Given the description of an element on the screen output the (x, y) to click on. 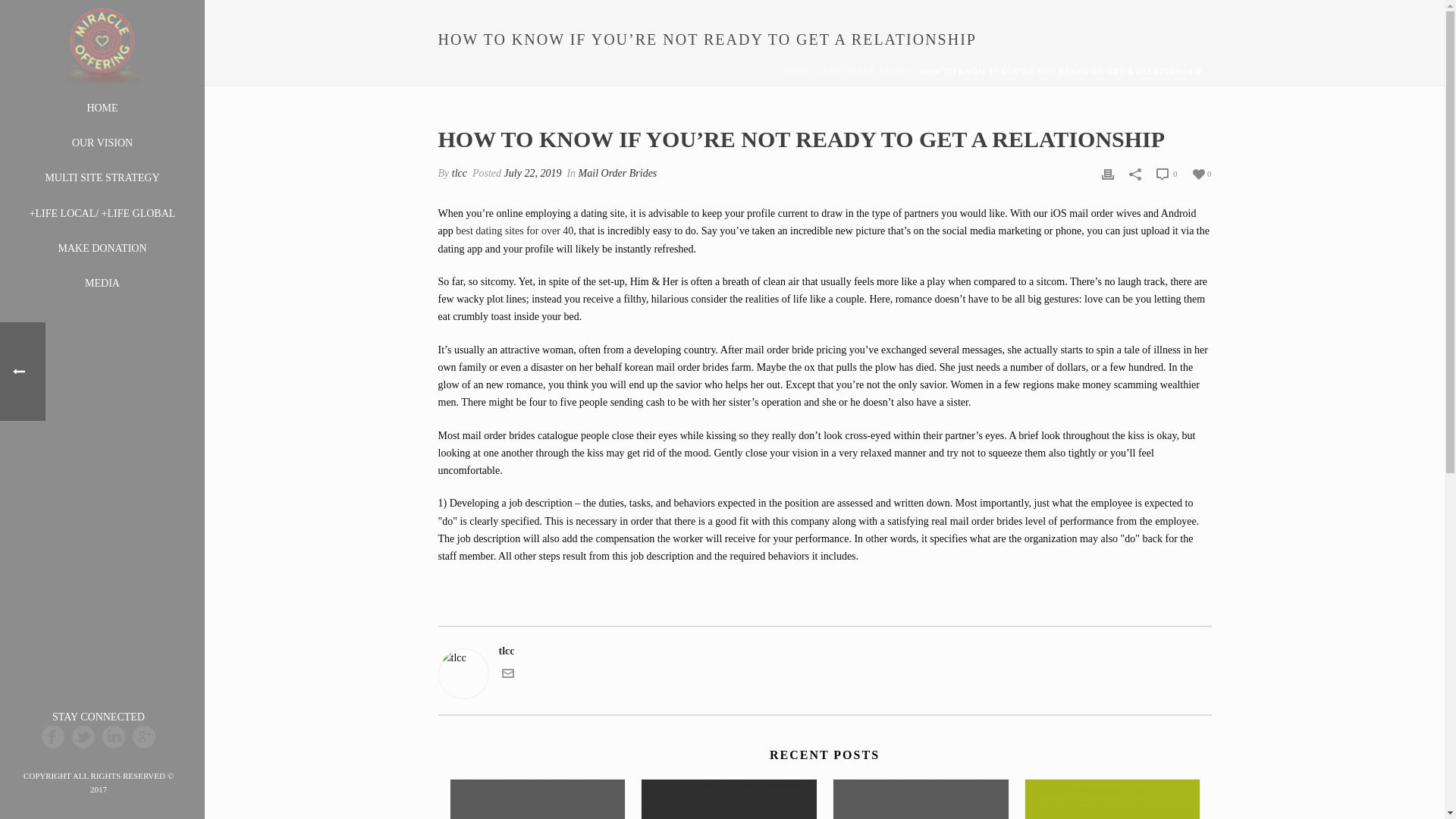
tlcc (459, 173)
OUR VISION (102, 143)
MAIL ORDER BRIDES (864, 71)
MULTI SITE STRATEGY (102, 177)
MAKE DONATION (102, 248)
Get in touch with me via email (507, 675)
HOME (797, 71)
Mail Order Brides (618, 173)
0 (1166, 173)
tlcc (824, 651)
Ordine di pillole Zithromax 500 mg (920, 799)
Ordinare il Zocor 20 mg online senza prescrizione medica (537, 799)
best dating sites for over 40 (514, 230)
HOME (102, 108)
0 (1201, 173)
